Given the description of an element on the screen output the (x, y) to click on. 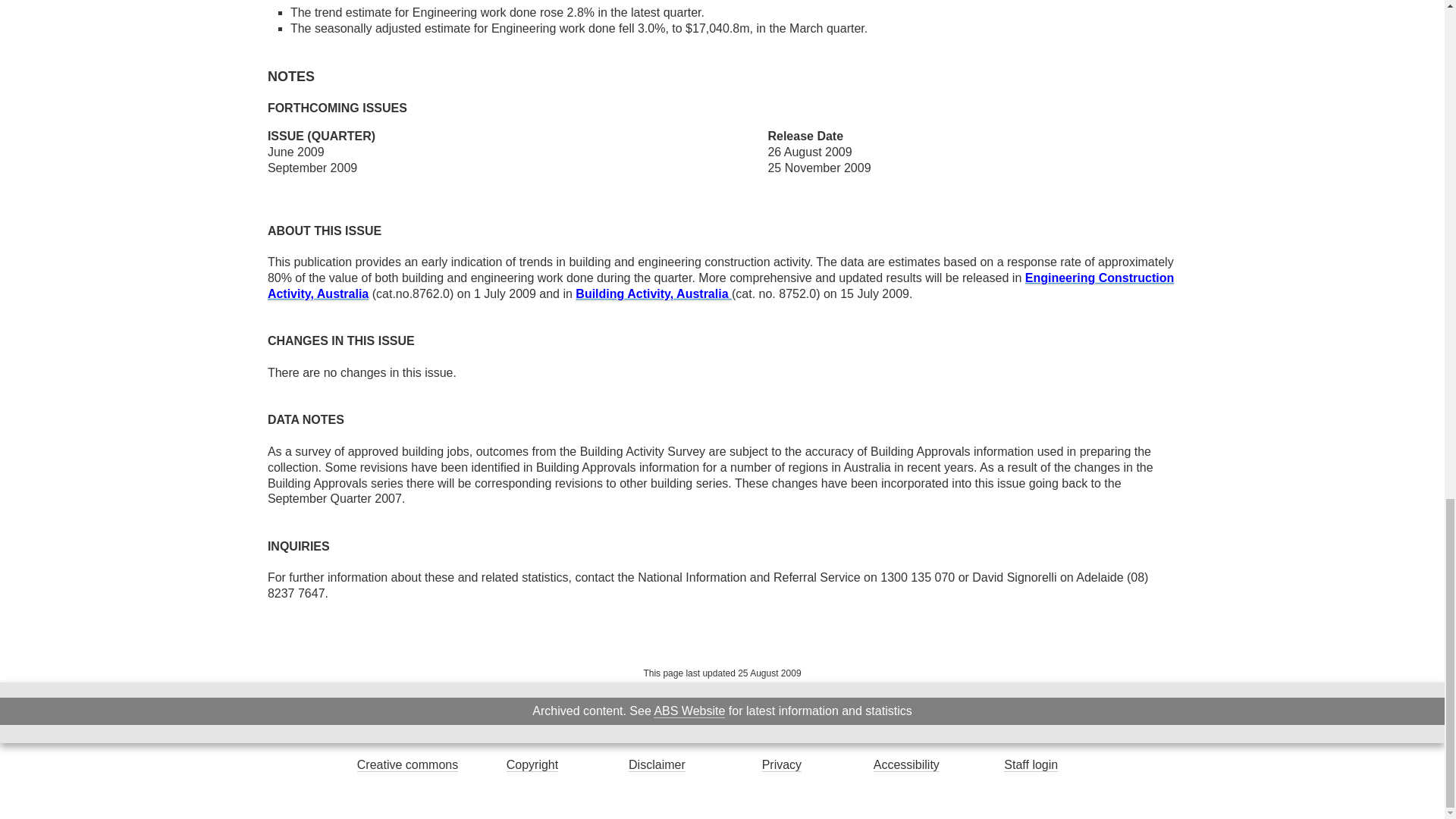
Engineering Construction Activity, Australia (720, 286)
ABS Website (689, 711)
Building Activity, Australia (653, 294)
